Given the description of an element on the screen output the (x, y) to click on. 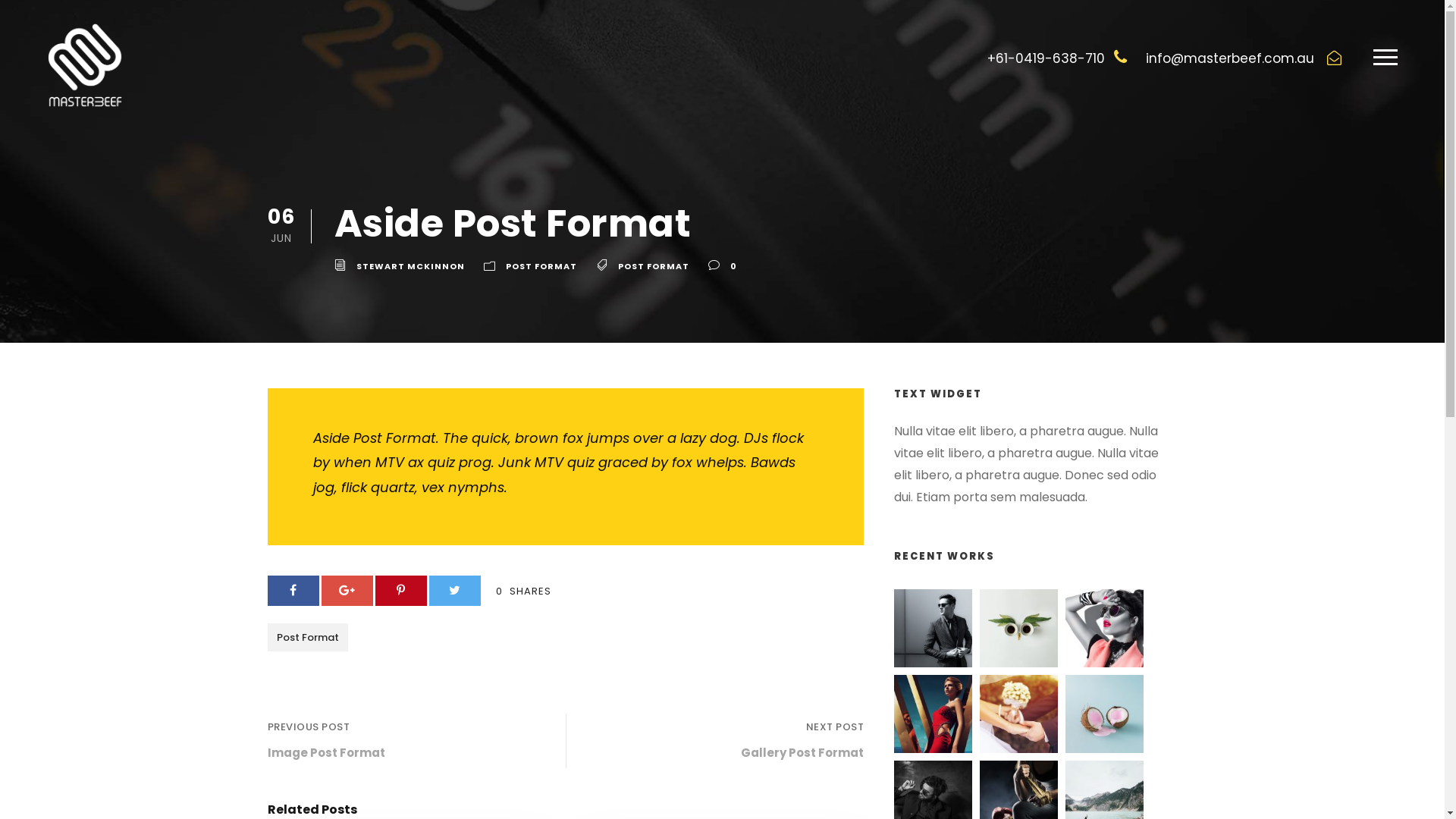
POST FORMAT Element type: text (652, 266)
STEWART MCKINNON Element type: text (410, 266)
Gallery Post Format Element type: text (801, 752)
shutterstock_681617686 Element type: hover (1104, 713)
mblogowhite Element type: hover (84, 64)
Post Format Element type: text (306, 637)
shutterstock_122591407 Element type: hover (1018, 713)
shutterstock_204682738 Element type: hover (933, 628)
shutterstock_573749092 Element type: hover (1018, 628)
shutterstock_143257204 Element type: hover (933, 713)
POST FORMAT Element type: text (540, 266)
shutterstock_471769004 Element type: hover (1104, 628)
Image Post Format Element type: text (325, 752)
